Given the description of an element on the screen output the (x, y) to click on. 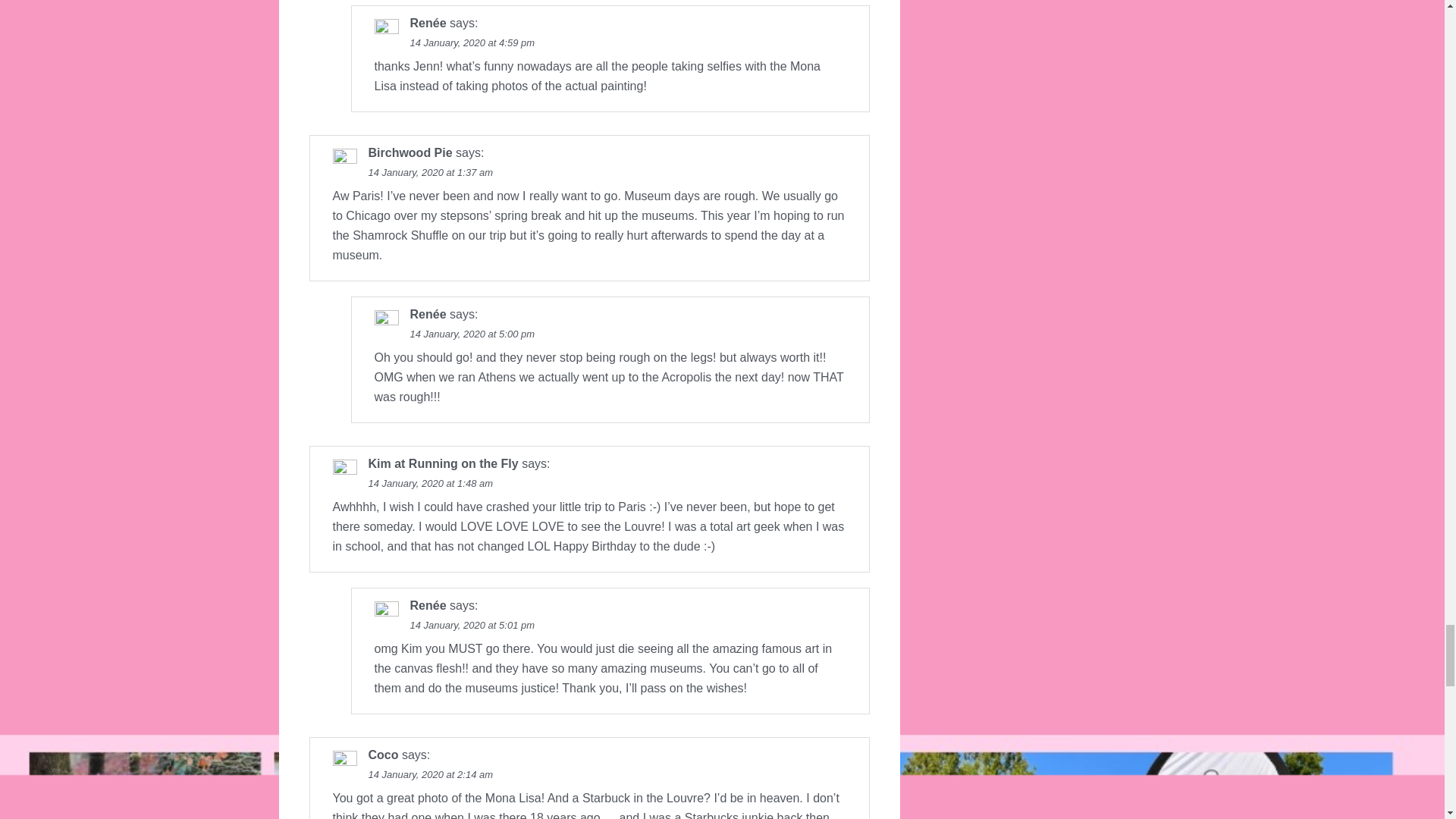
14 January, 2020 at 1:37 am (430, 172)
14 January, 2020 at 4:59 pm (471, 42)
14 January, 2020 at 1:48 am (430, 482)
14 January, 2020 at 5:01 pm (471, 624)
14 January, 2020 at 5:00 pm (471, 333)
